Given the description of an element on the screen output the (x, y) to click on. 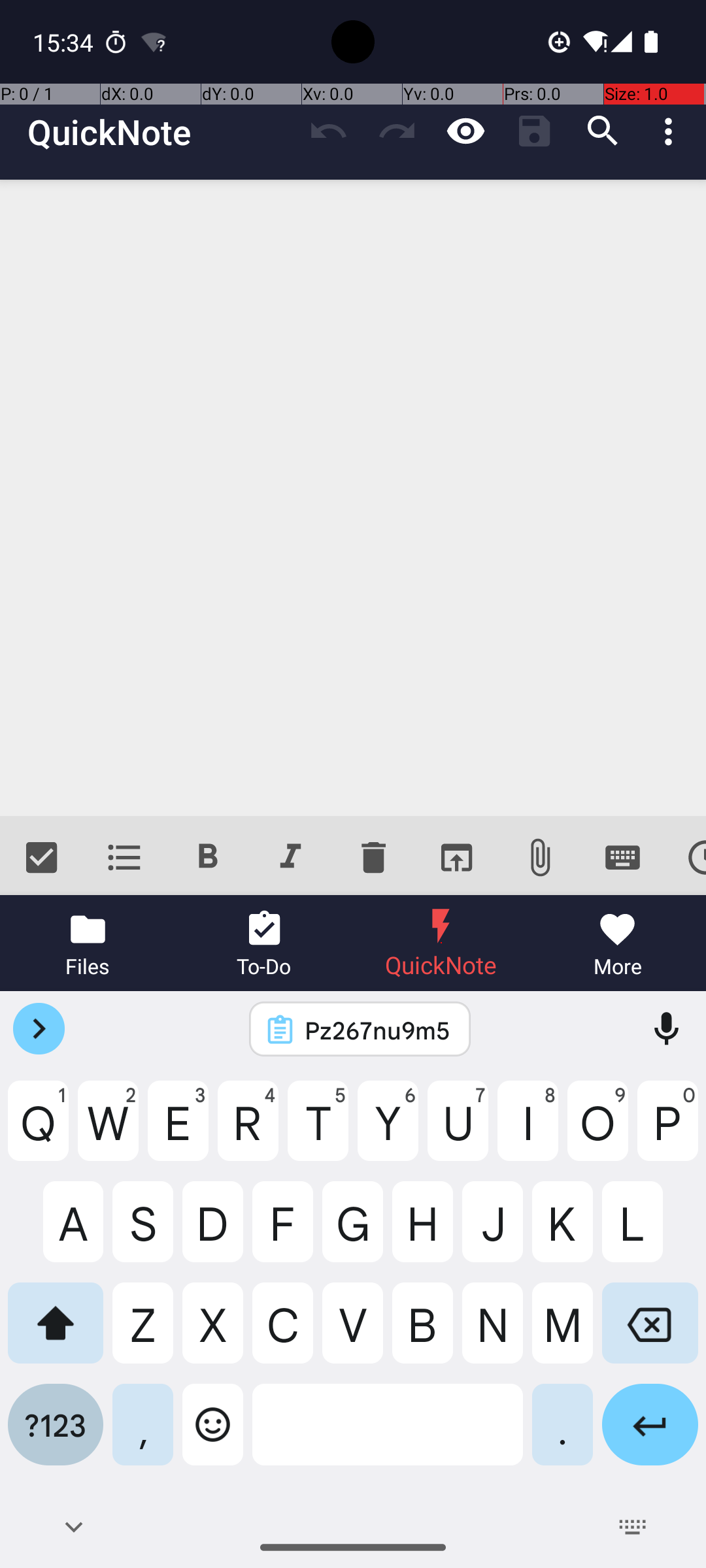
Pz267nu9m5 Element type: android.widget.TextView (376, 1029)
